Given the description of an element on the screen output the (x, y) to click on. 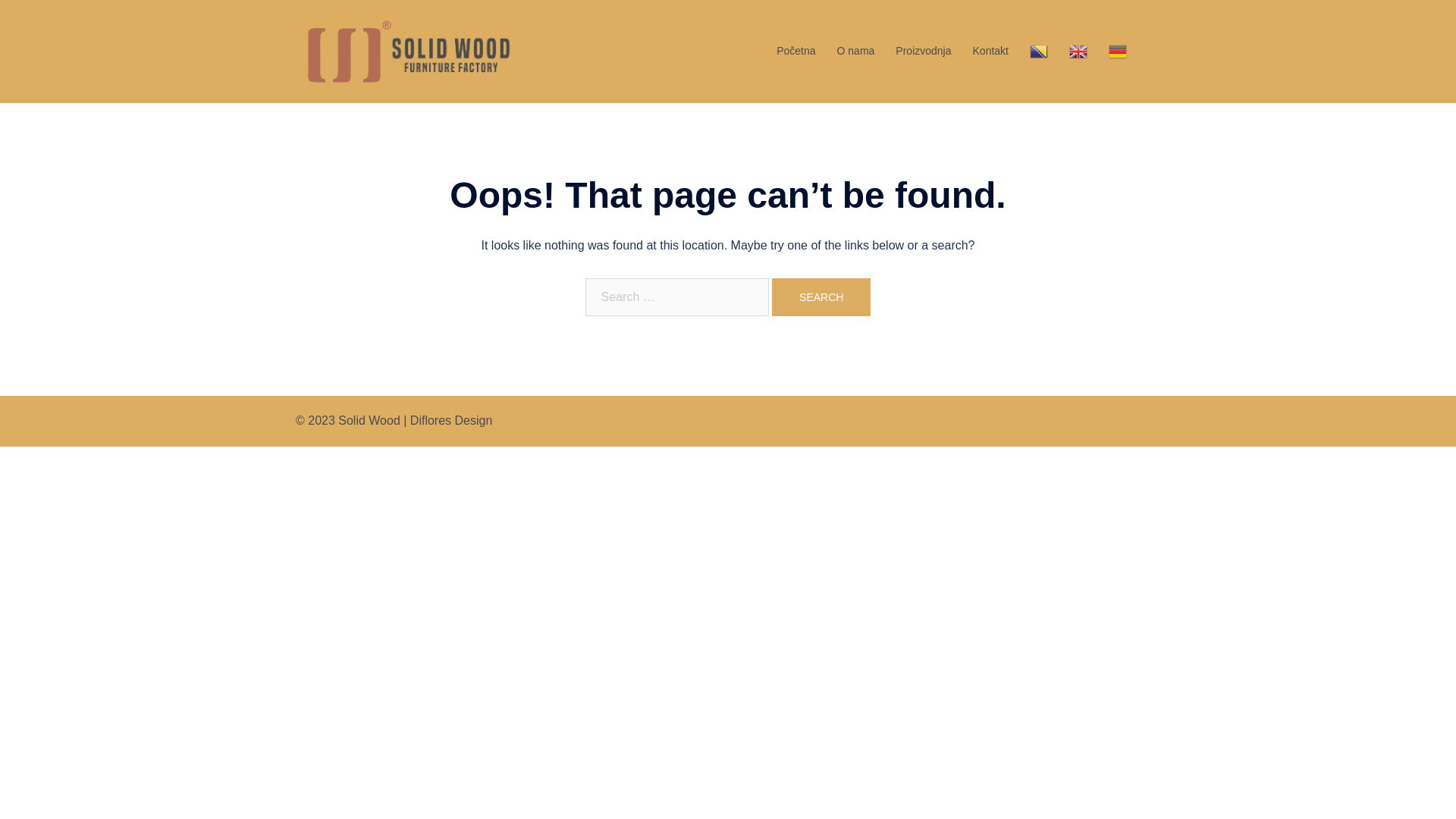
Proizvodnja Element type: text (922, 51)
Bosnian Element type: hover (1038, 51)
English Element type: hover (1078, 51)
Solid Wood Element type: hover (408, 49)
O nama Element type: text (856, 51)
German Element type: hover (1117, 51)
Kontakt Element type: text (990, 51)
Search Element type: text (820, 297)
